Given the description of an element on the screen output the (x, y) to click on. 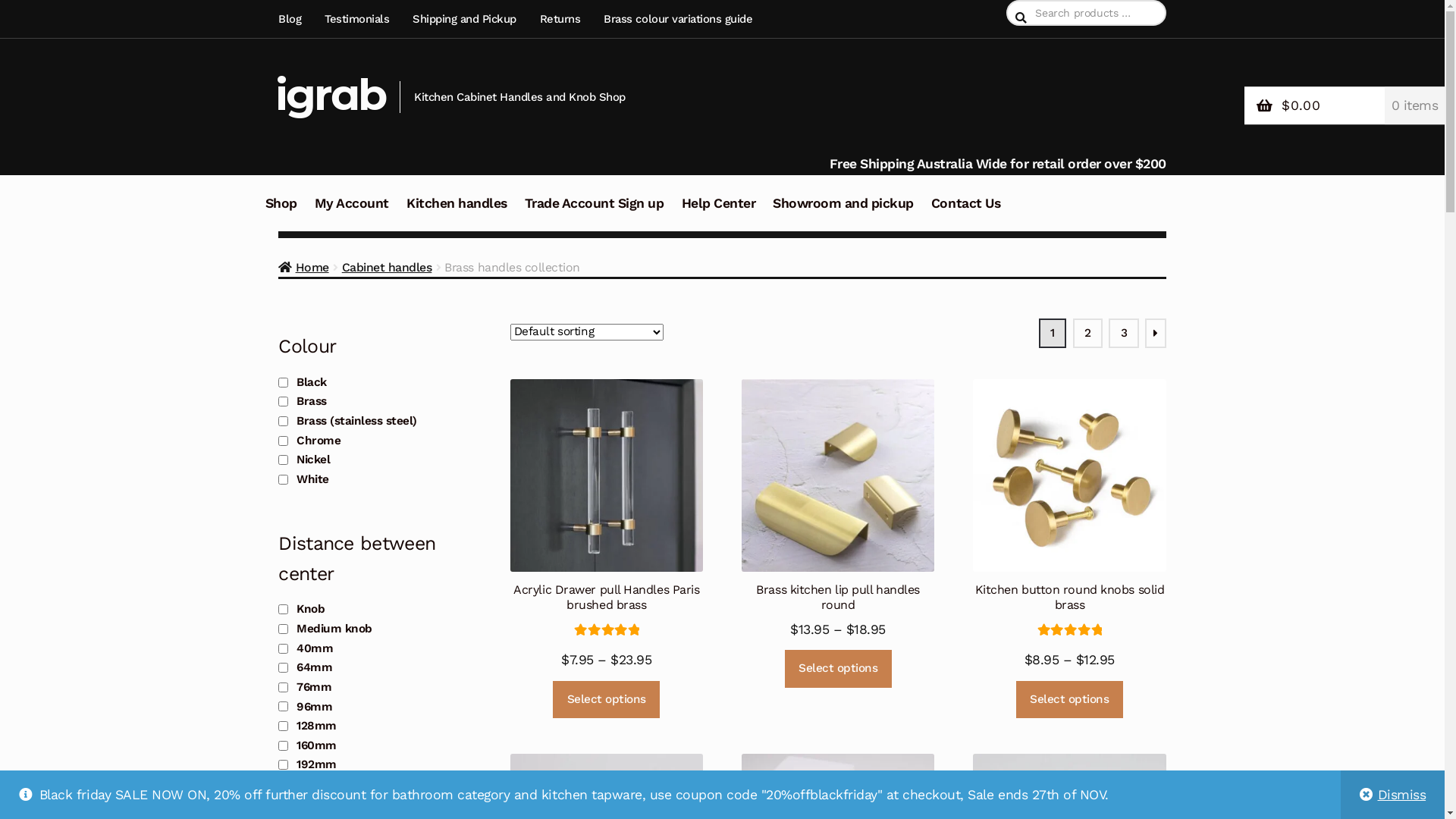
Kitchen handles Element type: text (456, 211)
My Account Element type: text (351, 211)
igrab Element type: text (330, 94)
3 Element type: text (1123, 333)
Showroom and pickup Element type: text (842, 211)
Shipping and Pickup Element type: text (464, 18)
Contact Us Element type: text (965, 211)
Select options Element type: text (1069, 699)
Select options Element type: text (837, 668)
Cabinet handles Element type: text (387, 267)
Blog Element type: text (294, 18)
$0.00
0 items Element type: text (1344, 106)
Returns Element type: text (559, 18)
Select options Element type: text (605, 699)
Help Center Element type: text (718, 211)
2 Element type: text (1086, 333)
Shop Element type: text (281, 211)
Trade Account Sign up Element type: text (593, 211)
Brass colour variations guide Element type: text (678, 18)
Home Element type: text (303, 267)
Testimonials Element type: text (357, 18)
